Given the description of an element on the screen output the (x, y) to click on. 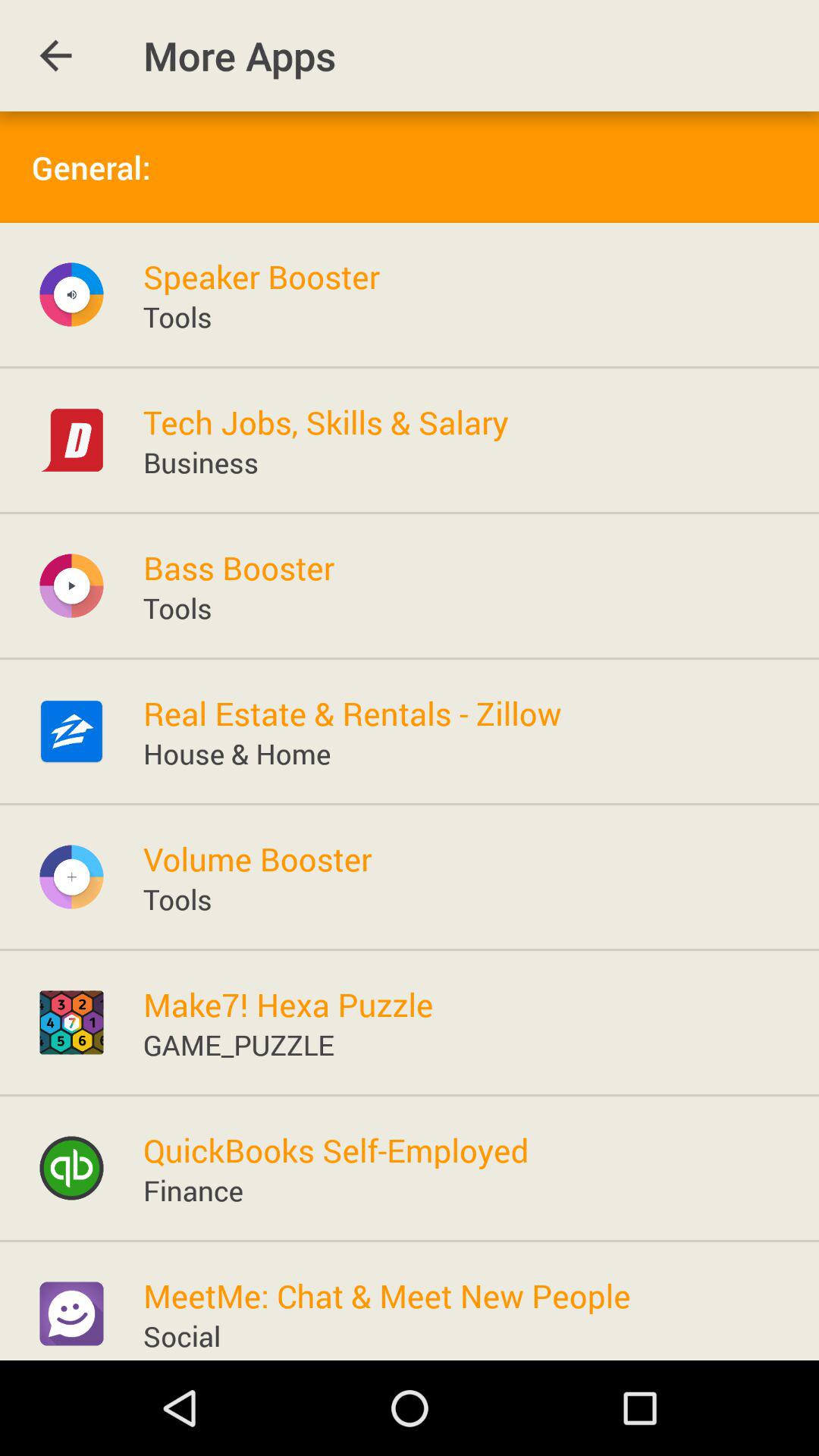
scroll until the business icon (200, 461)
